Given the description of an element on the screen output the (x, y) to click on. 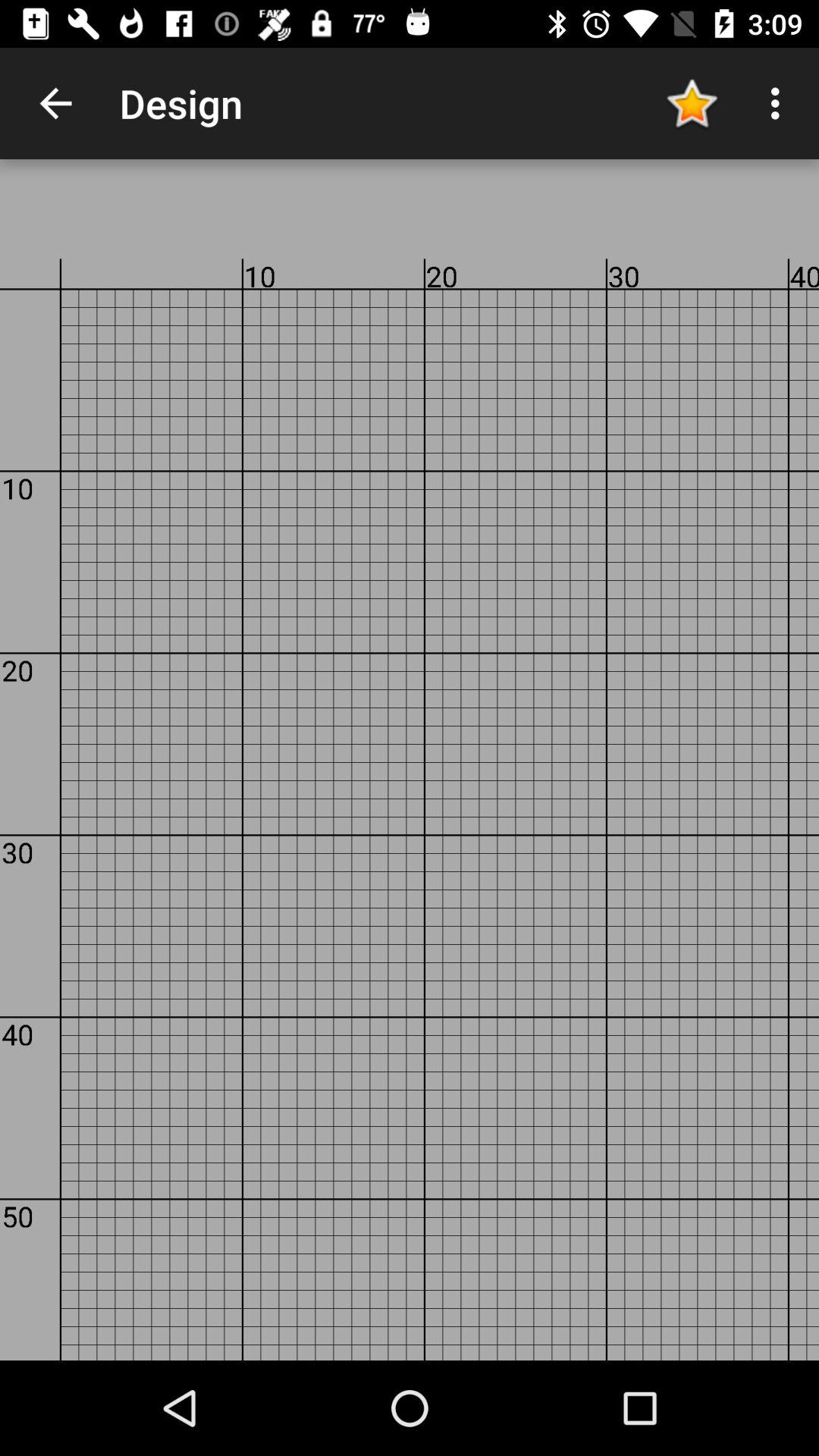
launch the app to the left of the design item (55, 103)
